Given the description of an element on the screen output the (x, y) to click on. 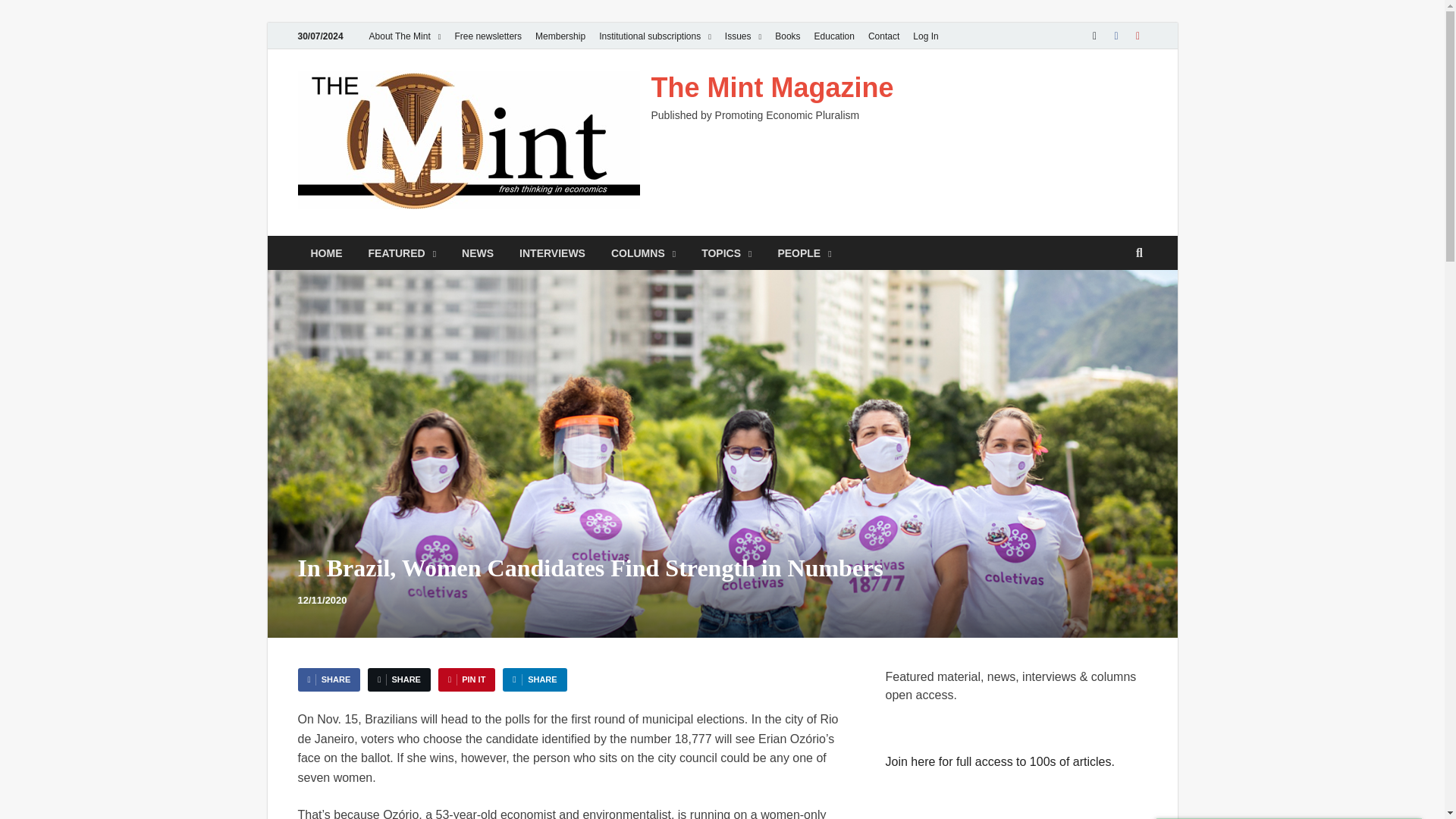
About The Mint (405, 35)
Issues (742, 35)
Institutional subscriptions (654, 35)
Membership (560, 35)
Free newsletters (487, 35)
